Given the description of an element on the screen output the (x, y) to click on. 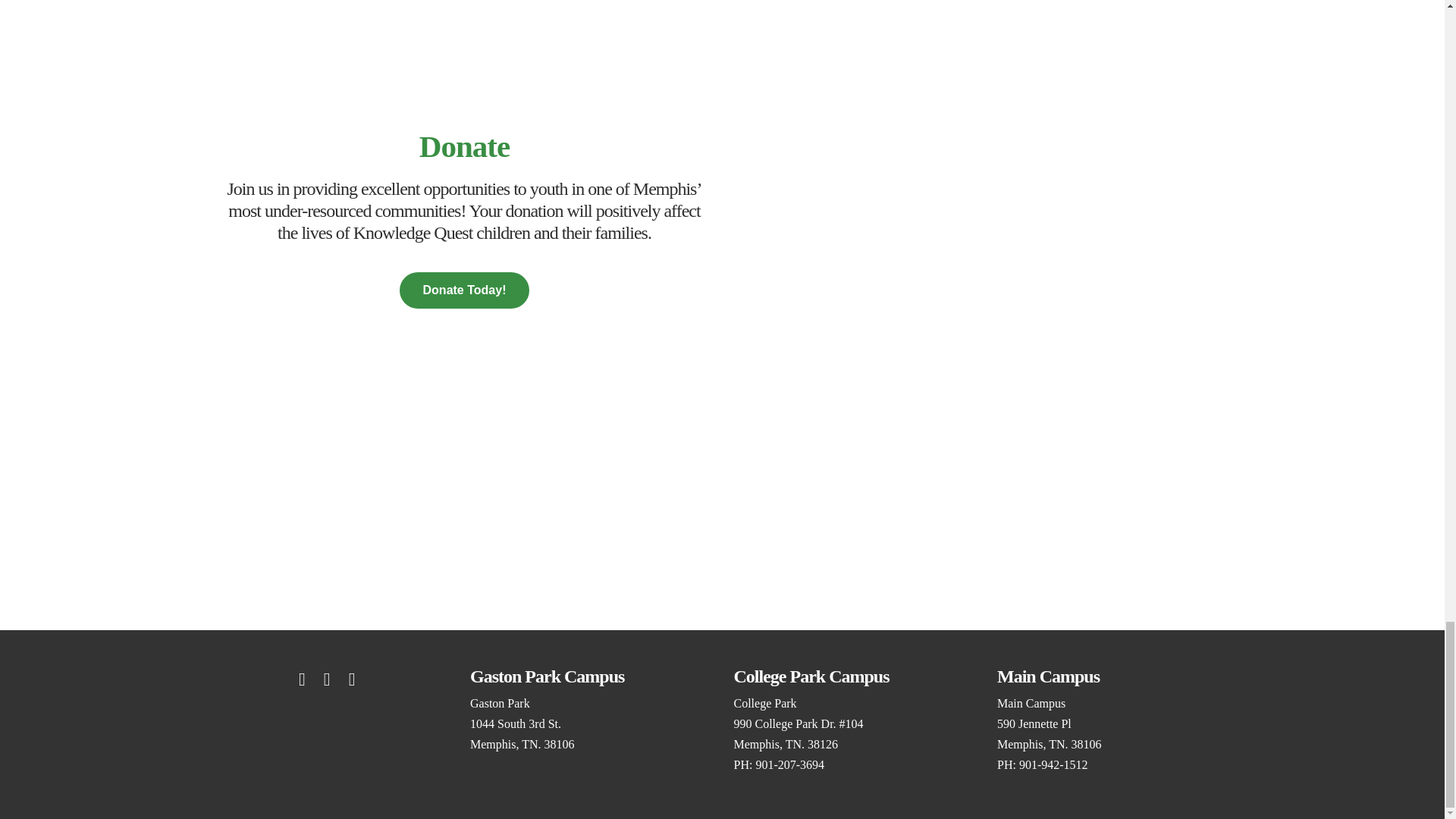
Programs (463, 289)
